Given the description of an element on the screen output the (x, y) to click on. 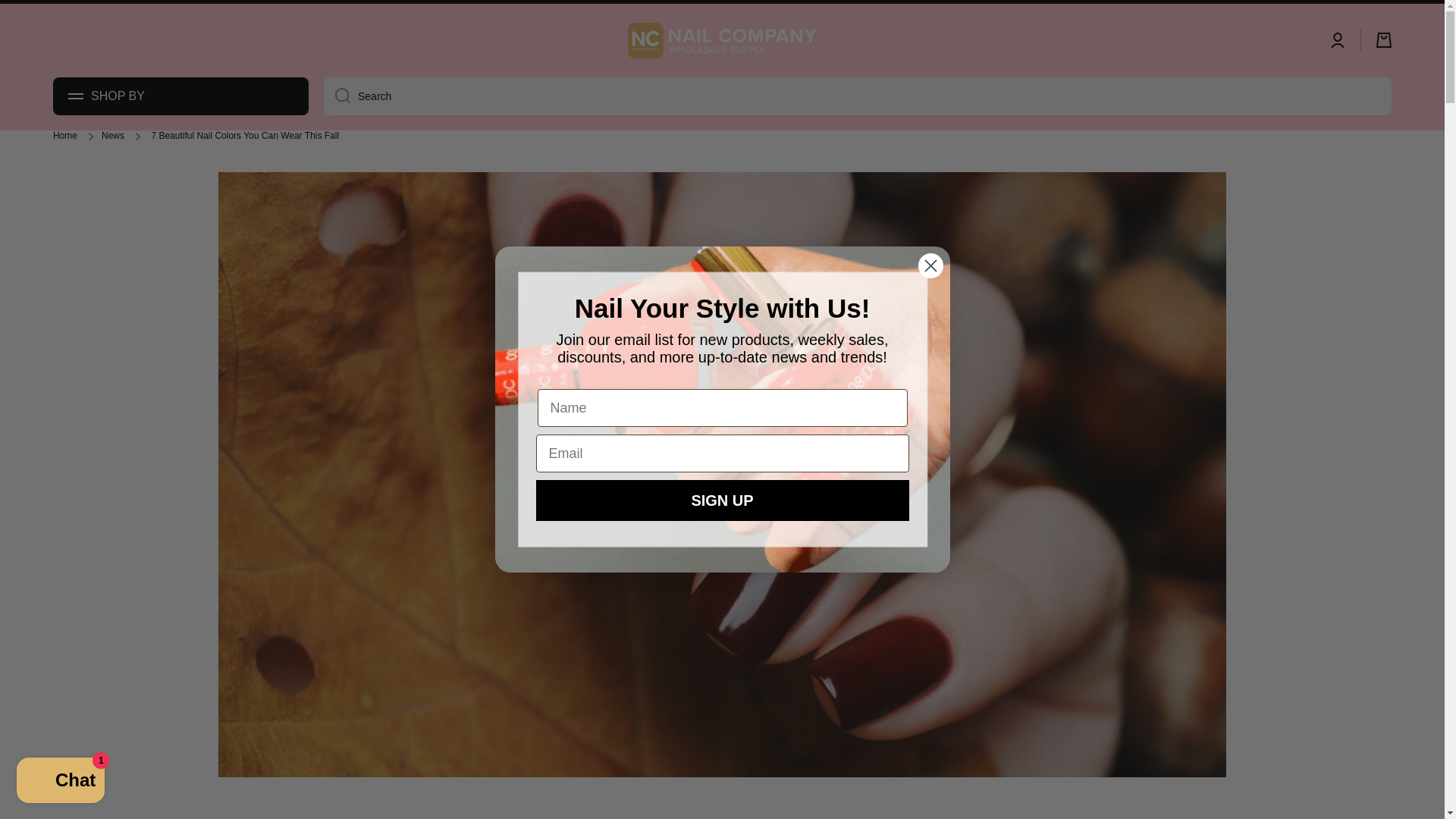
Shopify online store chat (60, 781)
